Given the description of an element on the screen output the (x, y) to click on. 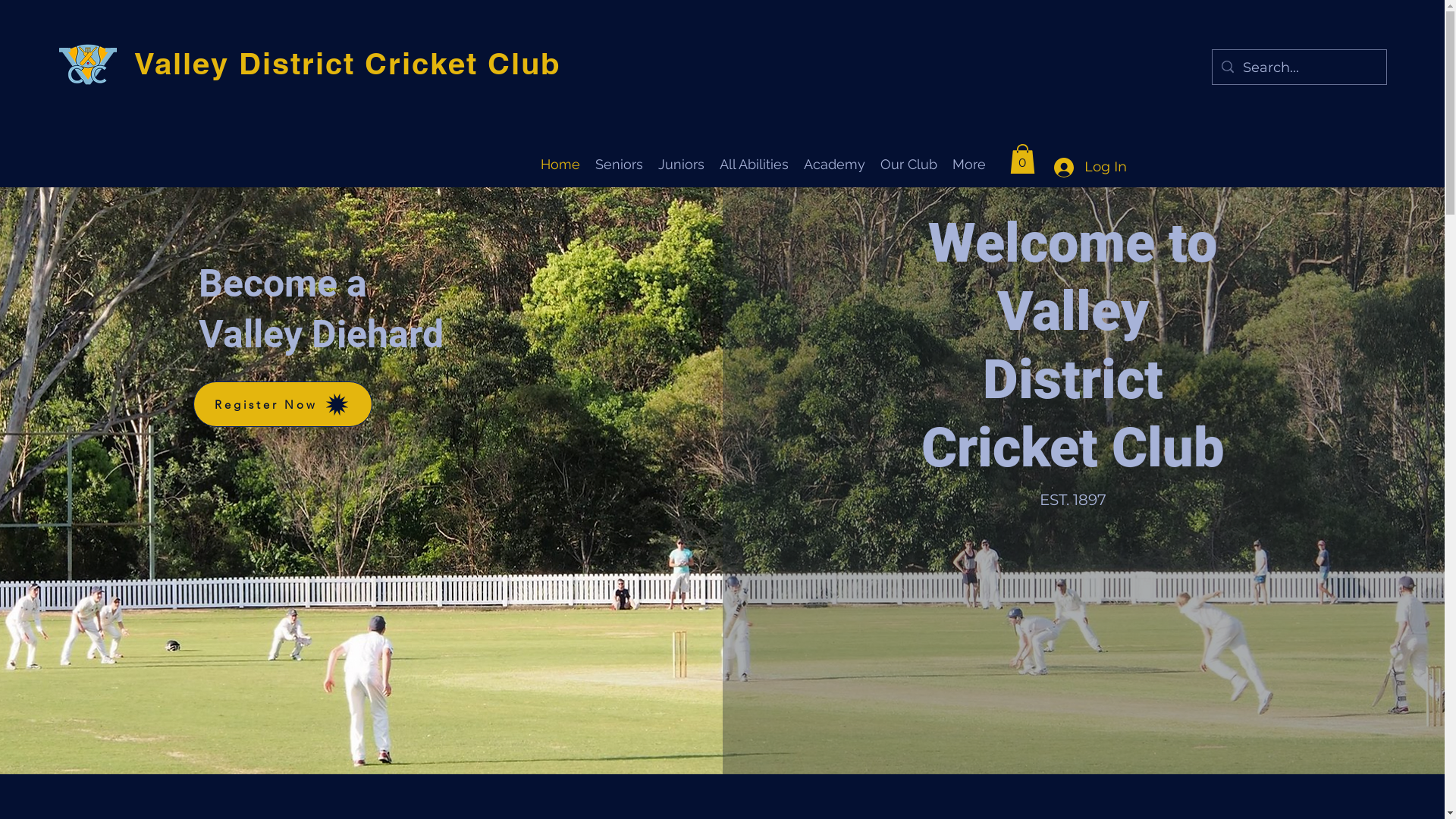
Log In Element type: text (1085, 167)
Our Club Element type: text (908, 162)
Juniors Element type: text (681, 162)
Seniors Element type: text (617, 162)
Academy Element type: text (834, 162)
All Abilities Element type: text (753, 162)
Register Now Element type: text (282, 403)
Home Element type: text (559, 162)
VDCC transparent.png Element type: hover (87, 66)
0 Element type: text (1022, 158)
